Given the description of an element on the screen output the (x, y) to click on. 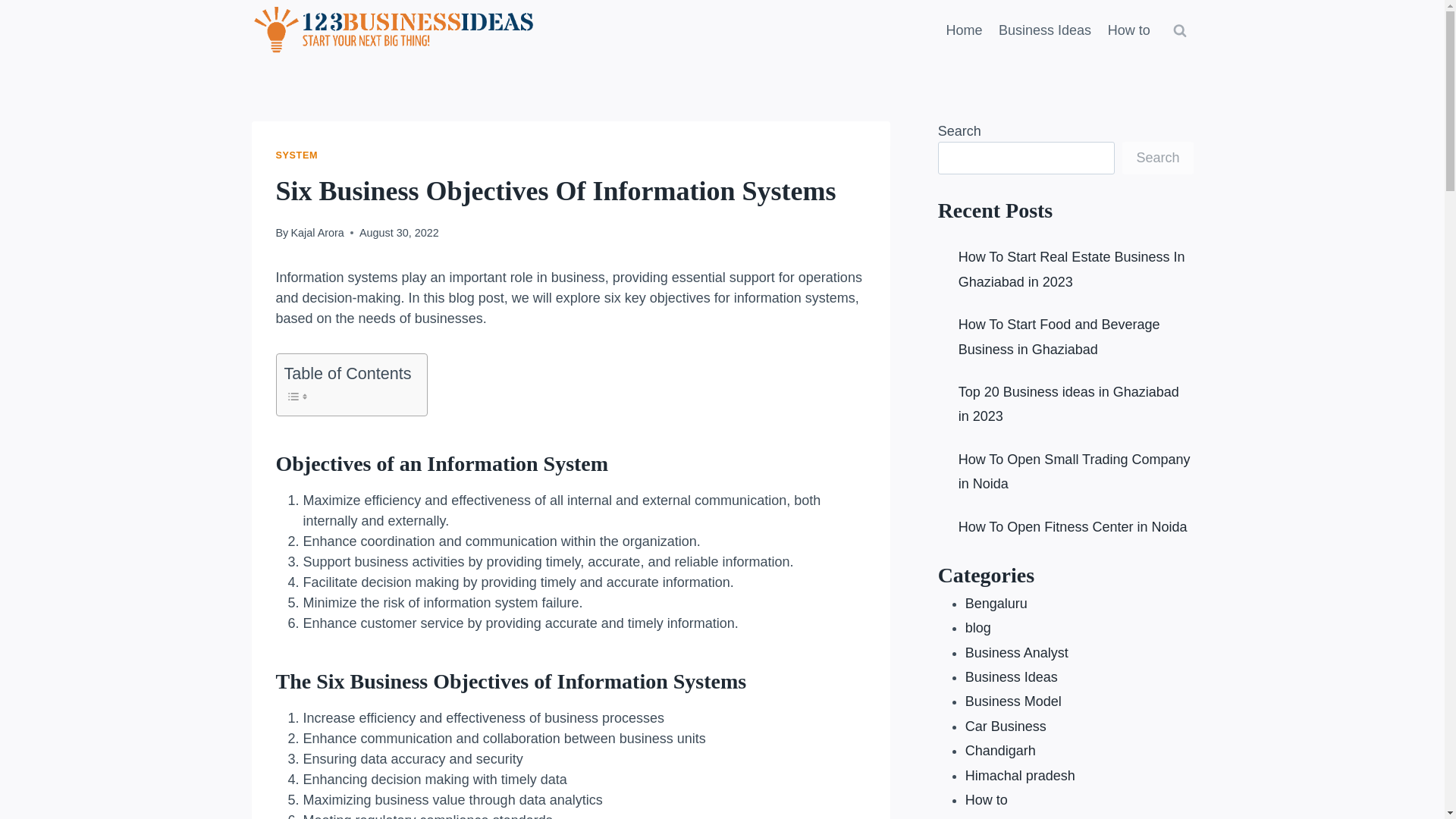
Kajal Arora (316, 232)
Business Ideas (1044, 30)
How to (1128, 30)
SYSTEM (297, 154)
Home (964, 30)
